Given the description of an element on the screen output the (x, y) to click on. 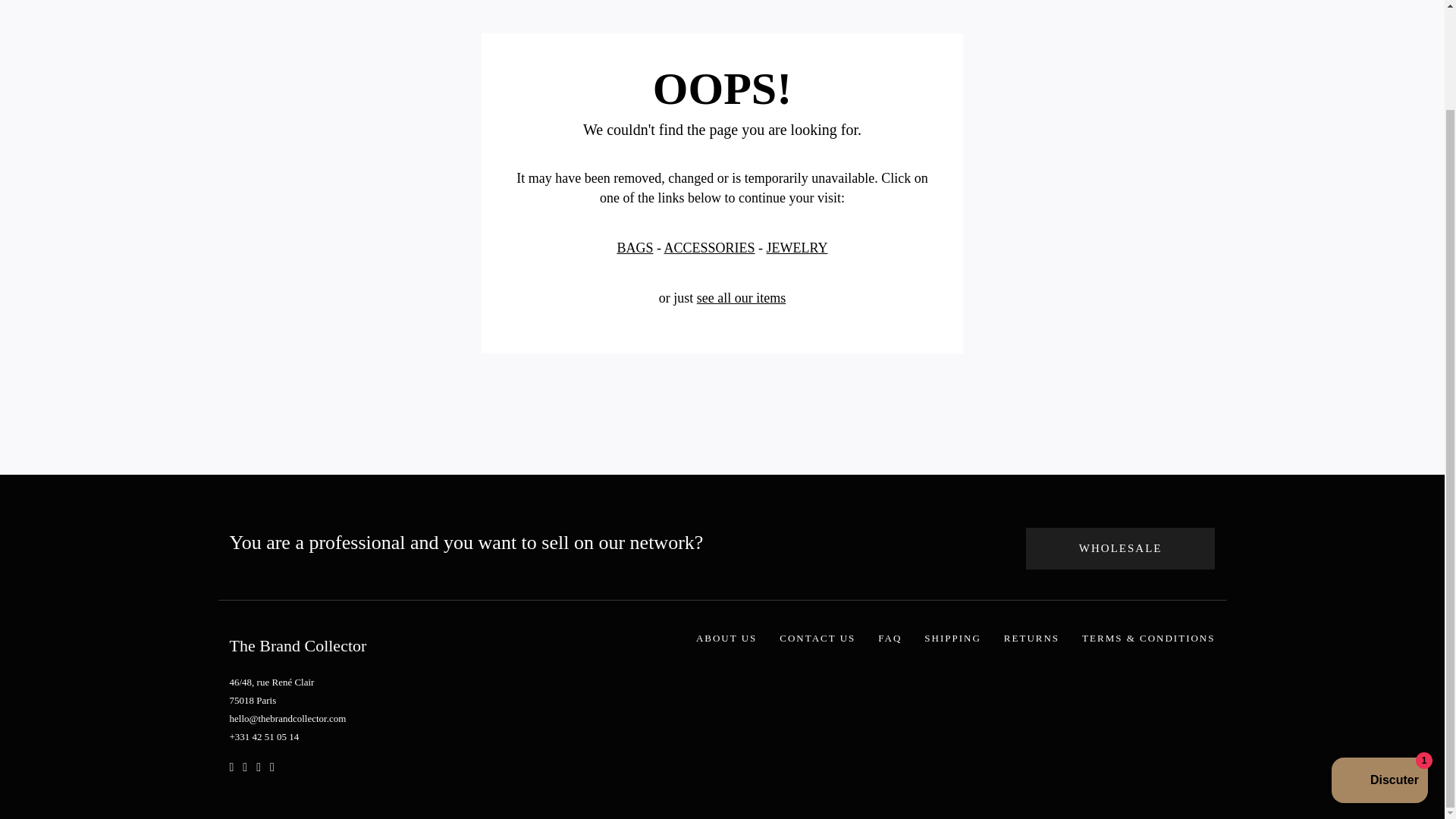
Chat de la boutique en ligne Shopify (1379, 666)
ACCESSORIES (708, 247)
see all our items (741, 297)
BAGS (633, 247)
JEWELRY (797, 247)
ABOUT US (726, 637)
WHOLESALE (1120, 548)
